Given the description of an element on the screen output the (x, y) to click on. 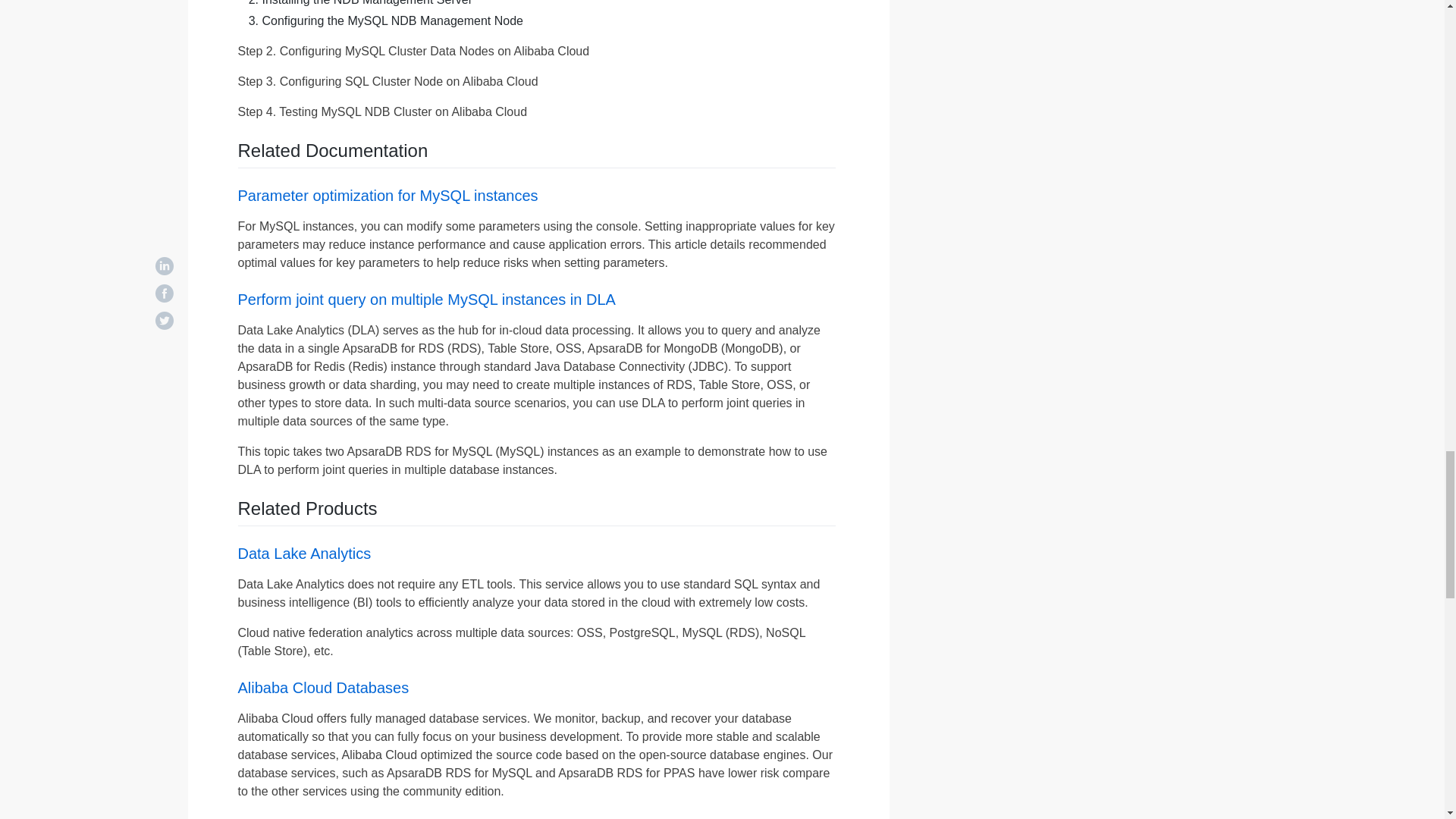
Parameter optimization for MySQL instances (388, 195)
